Given the description of an element on the screen output the (x, y) to click on. 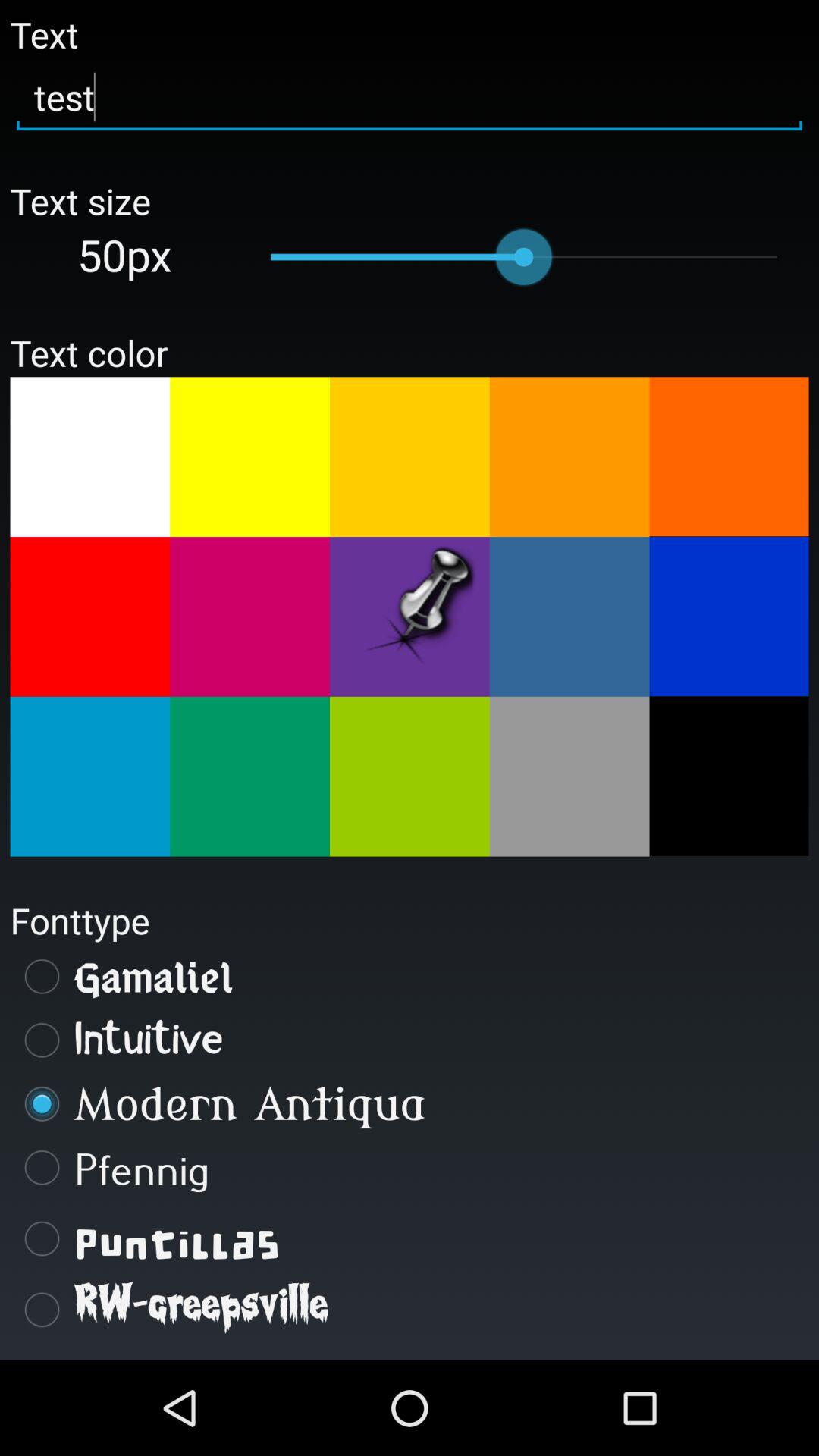
choose this color (569, 776)
